Given the description of an element on the screen output the (x, y) to click on. 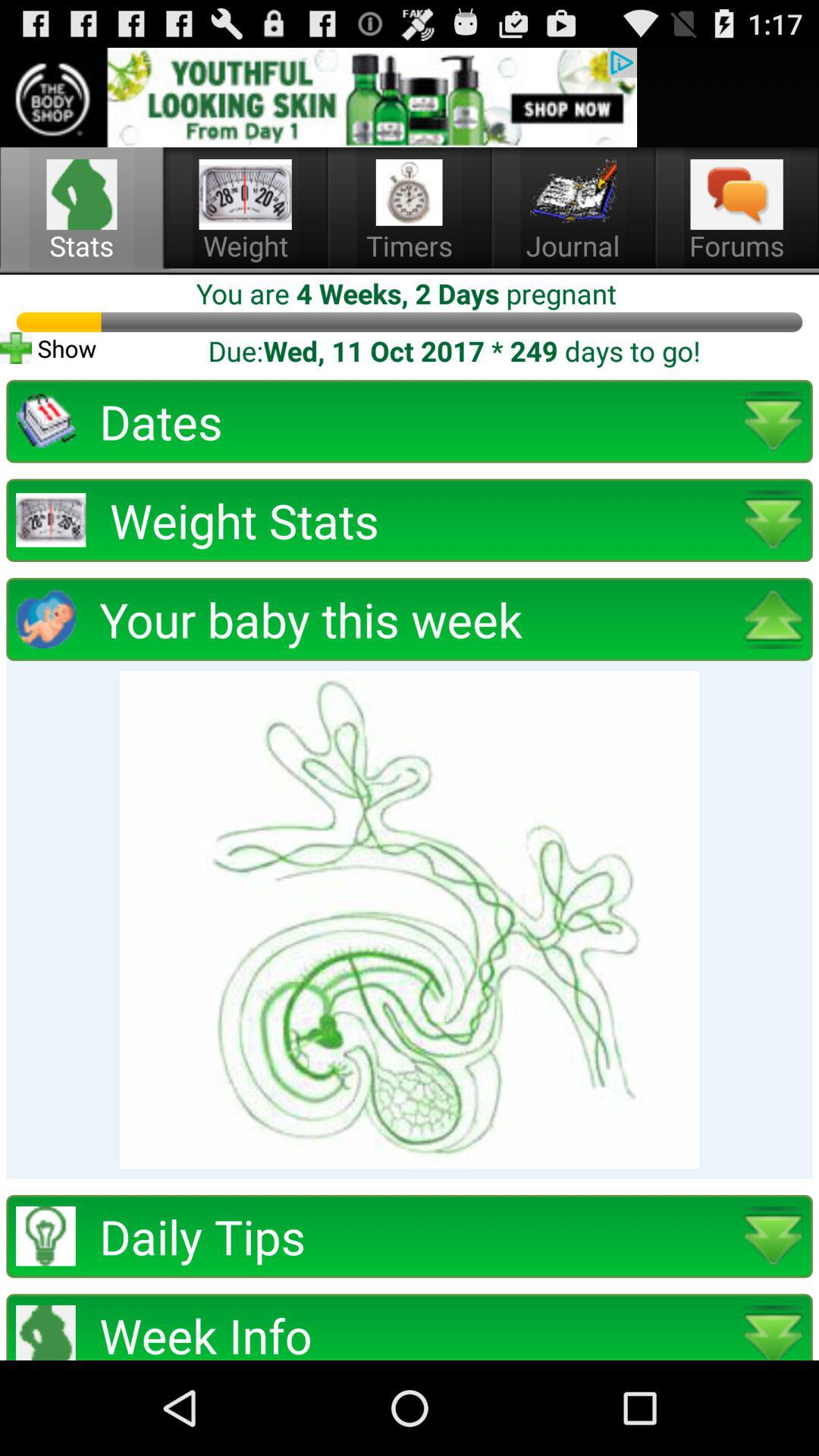
advertisement area (318, 97)
